Given the description of an element on the screen output the (x, y) to click on. 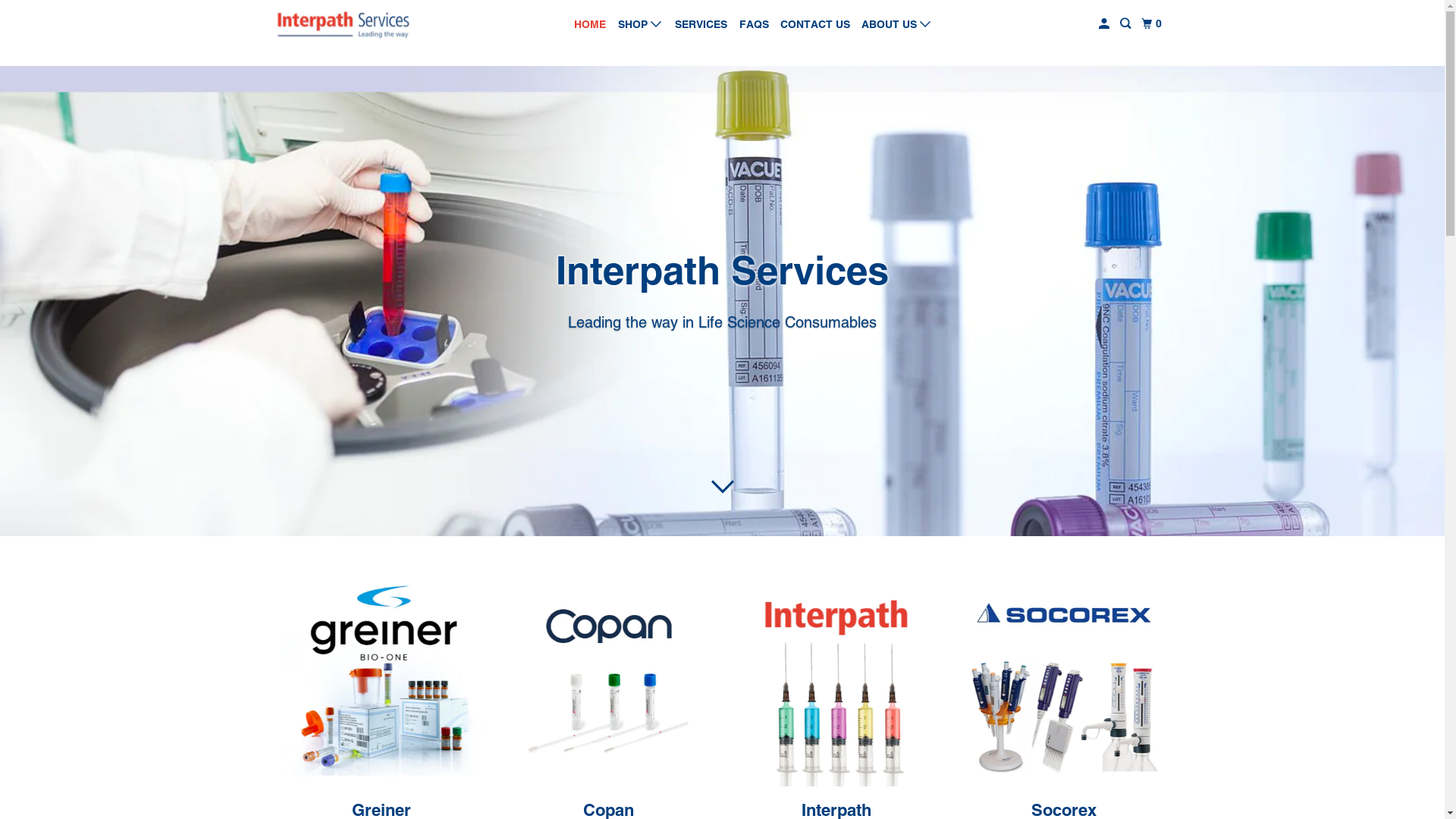
Interpath Services Pty Ltd Element type: hover (342, 23)
0 Element type: text (1152, 23)
My Account  Element type: hover (1104, 23)
CONTACT US Element type: text (815, 24)
SERVICES Element type: text (700, 24)
HOME Element type: text (589, 24)
Search Element type: hover (1126, 23)
FAQS Element type: text (753, 24)
